Given the description of an element on the screen output the (x, y) to click on. 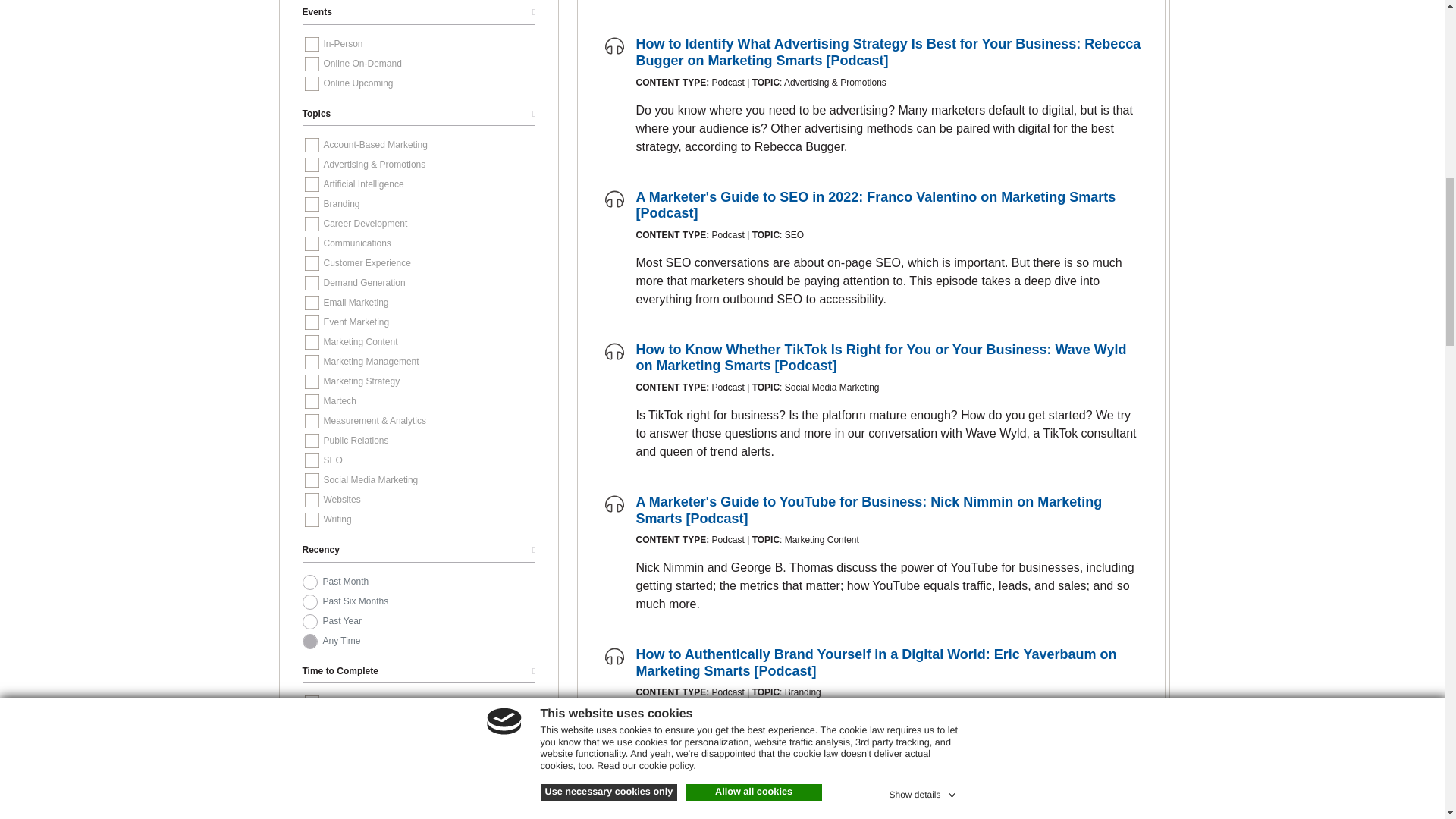
365 (309, 621)
0 (309, 641)
30 (309, 581)
180 (309, 601)
